Given the description of an element on the screen output the (x, y) to click on. 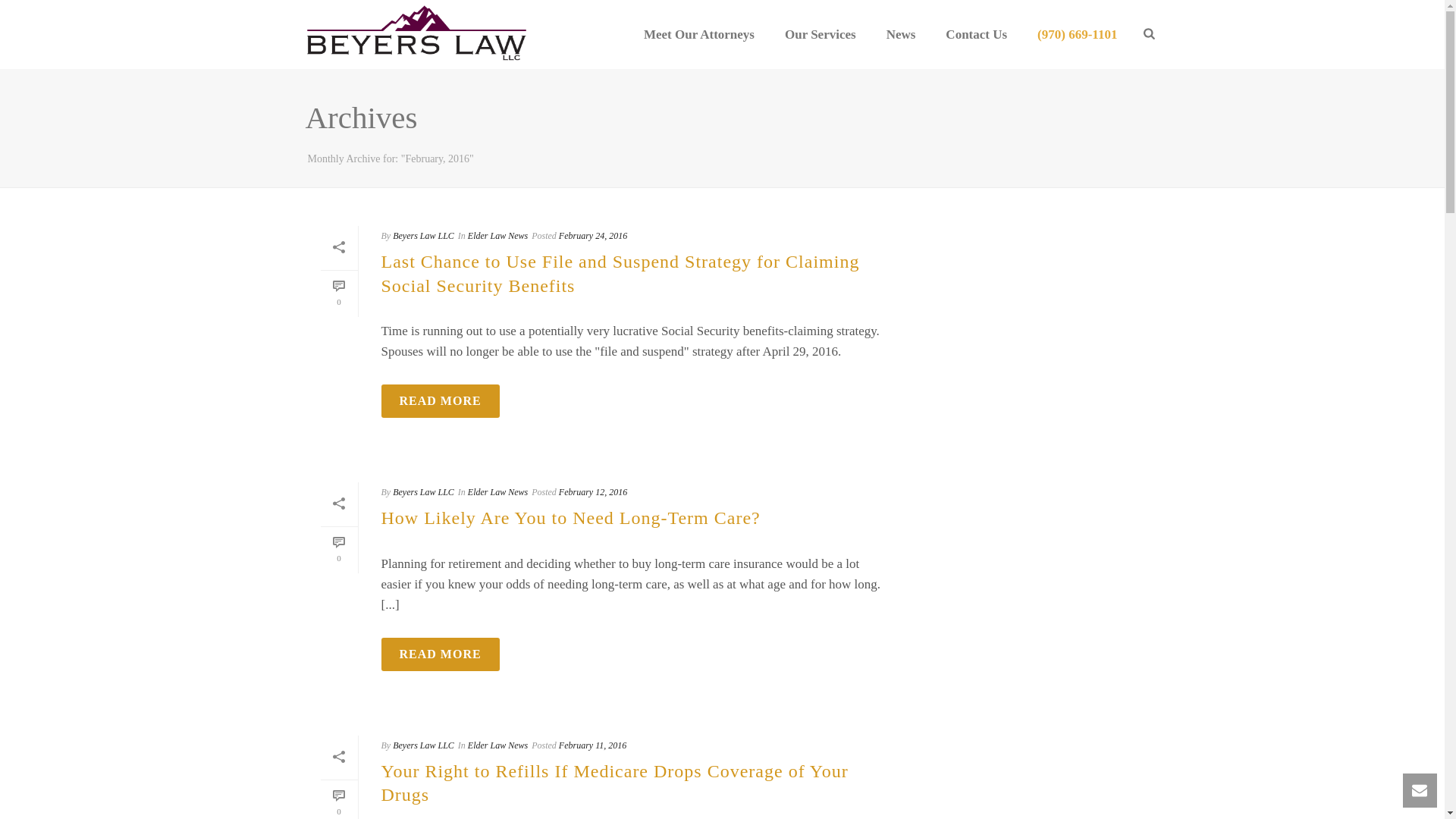
Contact Us (976, 34)
Our Services (820, 34)
News (900, 34)
Elder Law Services (415, 34)
READ MORE (439, 654)
News (900, 34)
Meet Our Attorneys (699, 34)
Beyers Law LLC (423, 235)
Our Services (820, 34)
Posts by Beyers Law LLC (423, 745)
February 24, 2016 (593, 235)
Posts by Beyers Law LLC (423, 491)
READ MORE (439, 400)
READ MORE (439, 400)
